Given the description of an element on the screen output the (x, y) to click on. 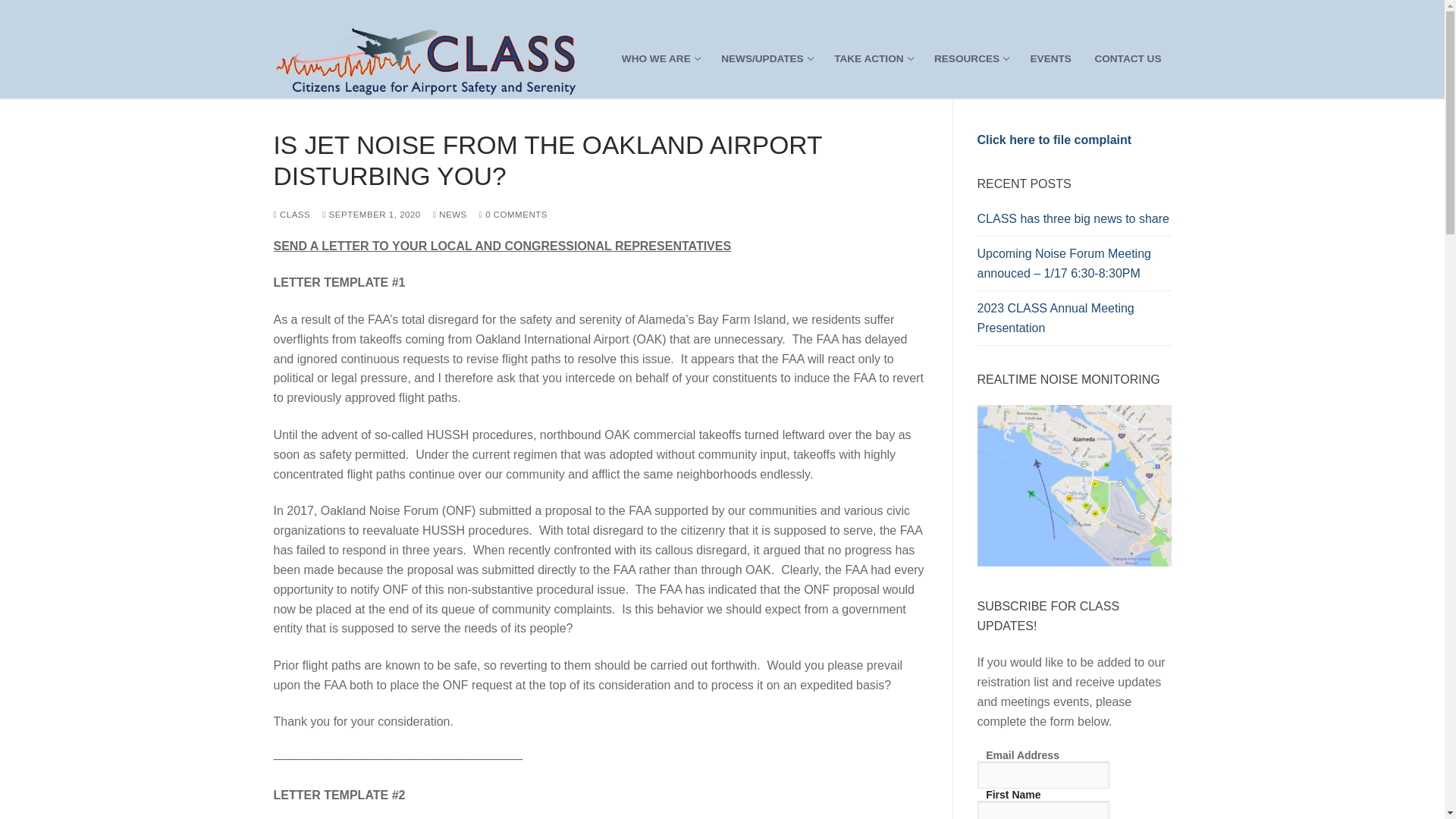
0 COMMENTS (659, 59)
CONTACT US (513, 214)
CLASS has three big news to share (1127, 59)
SEPTEMBER 1, 2020 (1073, 222)
NEWS (872, 59)
CLASS (370, 214)
EVENTS (449, 214)
2023 CLASS Annual Meeting Presentation (291, 214)
Click here to file complaint (1050, 59)
